Given the description of an element on the screen output the (x, y) to click on. 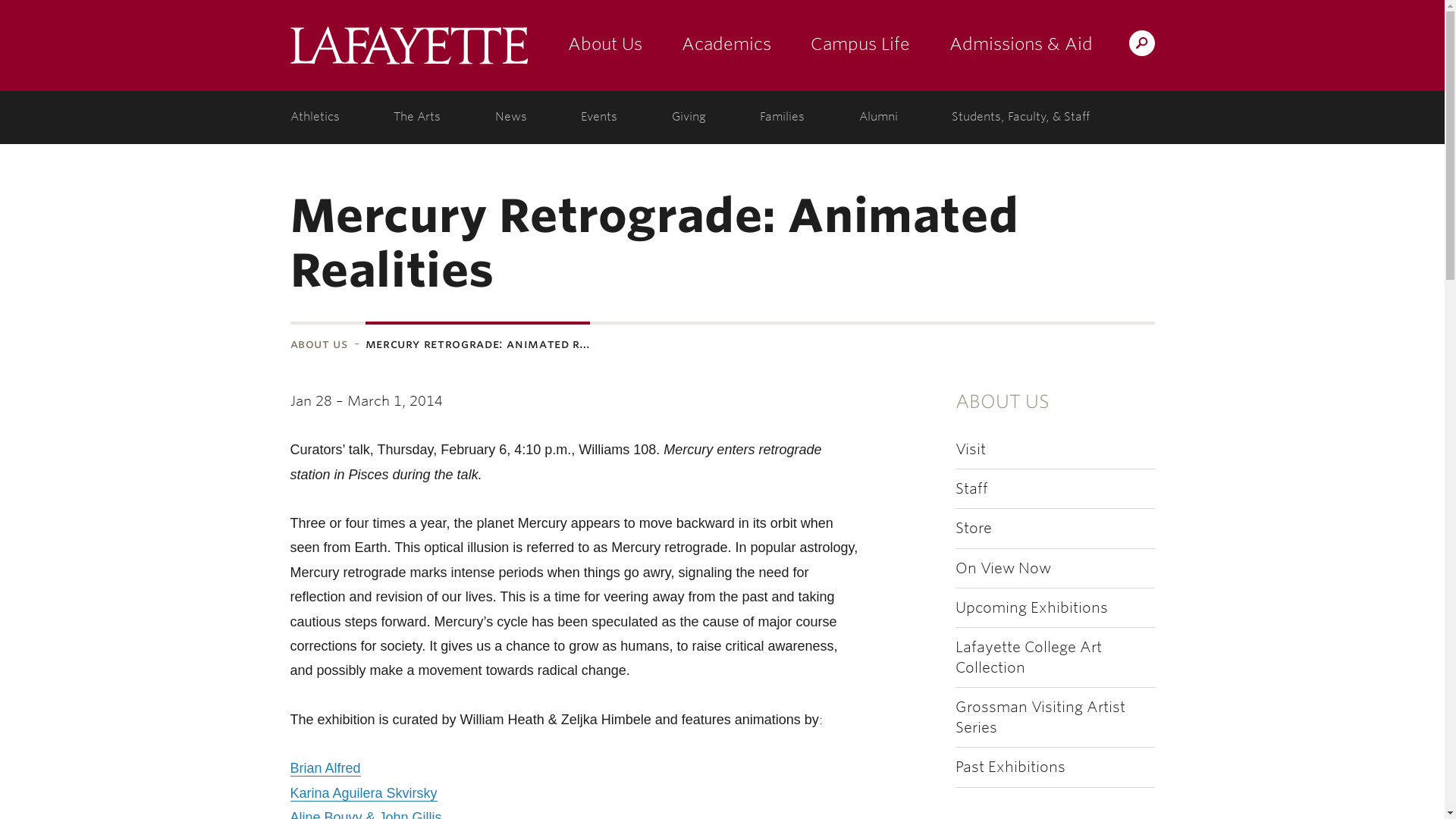
Search (842, 42)
About Us (603, 45)
Lafayette College (408, 45)
Search Lafayette.edu (1141, 43)
Campus Life (859, 45)
Academics (725, 45)
